Given the description of an element on the screen output the (x, y) to click on. 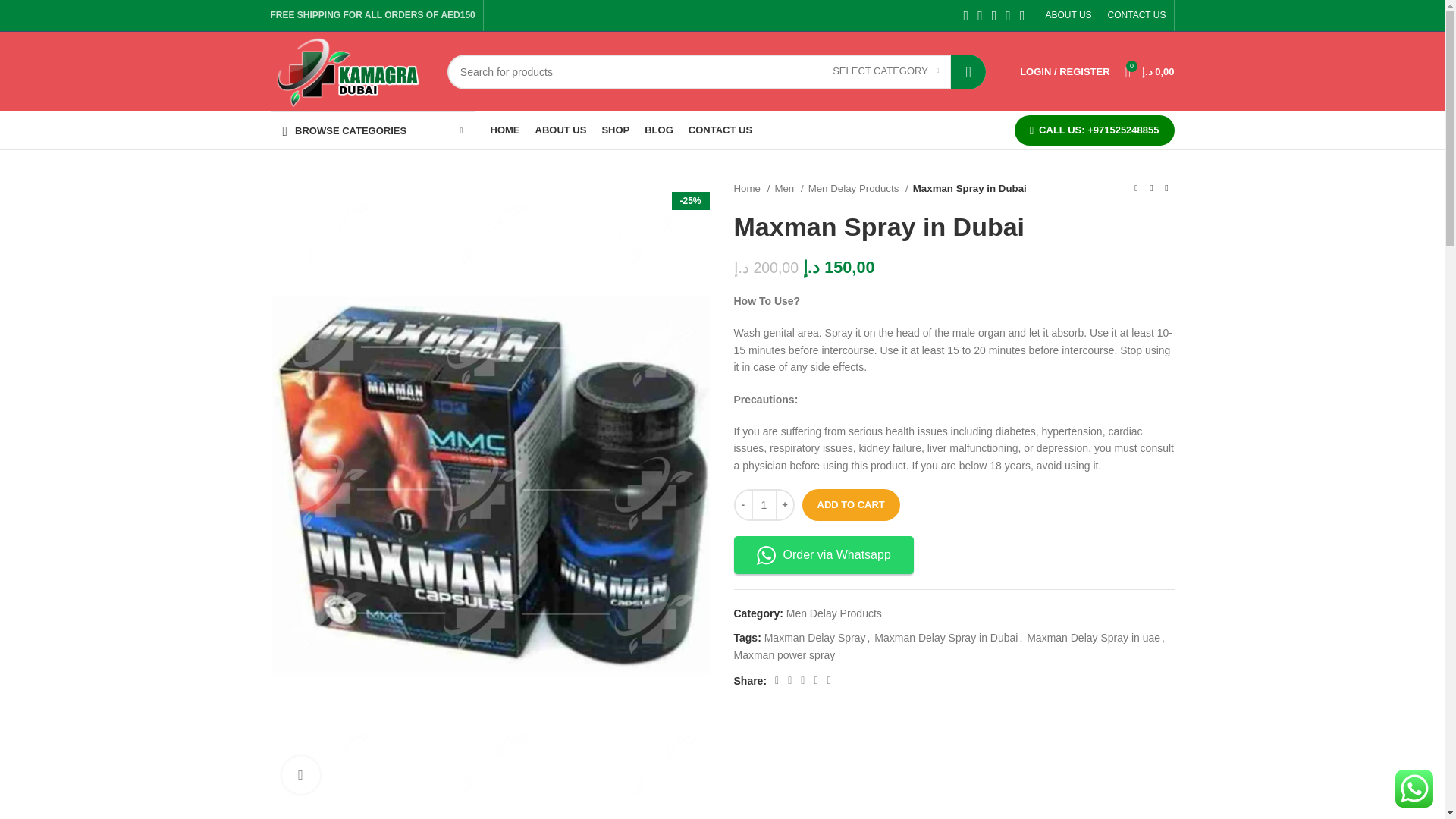
Search for products (715, 71)
SELECT CATEGORY (885, 71)
My account (1063, 71)
ABOUT US (1067, 15)
CONTACT US (1137, 15)
SEARCH (967, 71)
SELECT CATEGORY (885, 71)
Shopping cart (1150, 71)
